Given the description of an element on the screen output the (x, y) to click on. 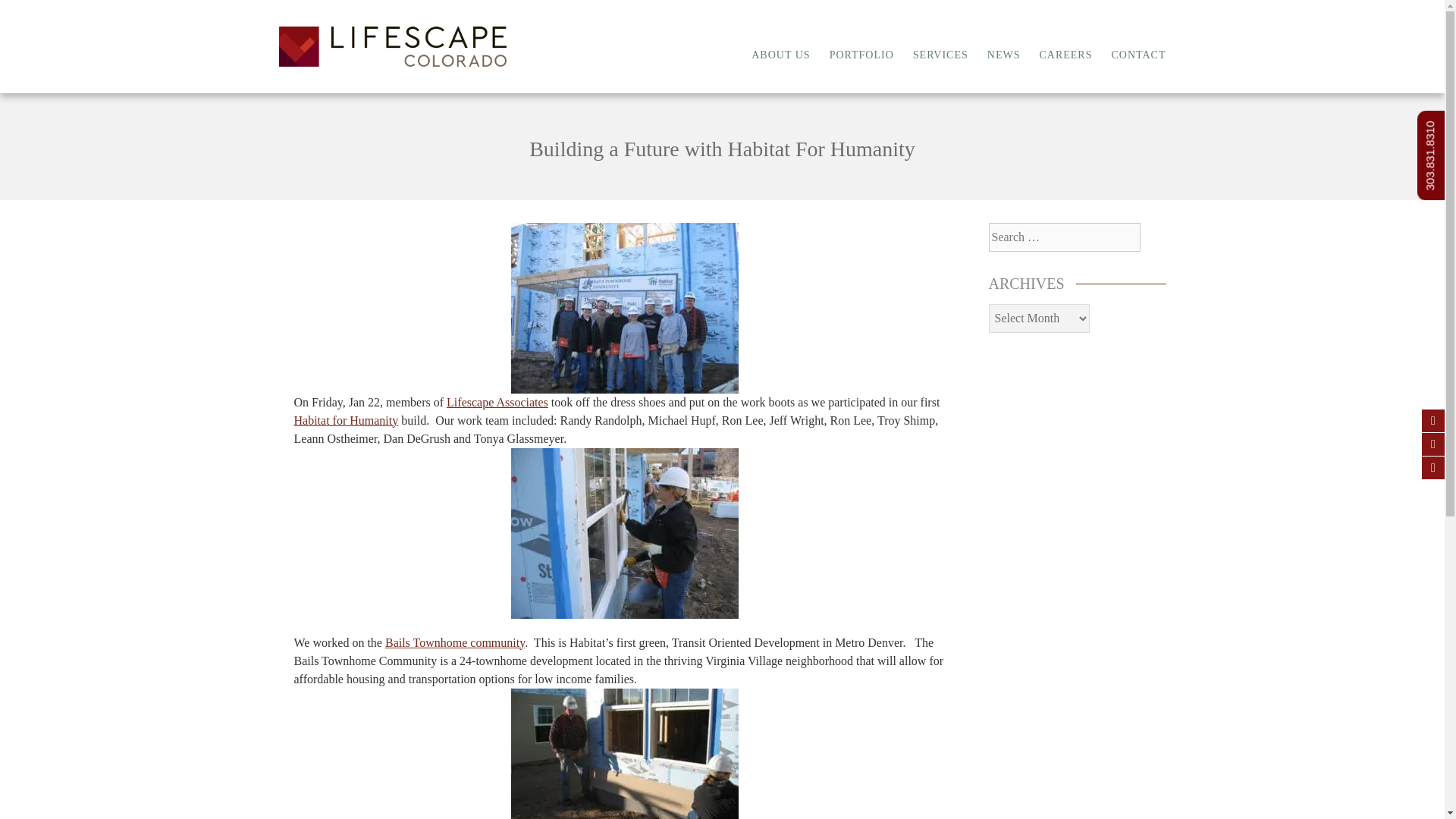
Bails Townhome community (454, 642)
Lifescape Associates (497, 401)
PORTFOLIO (861, 54)
CONTACT (1139, 54)
ABOUT US (780, 54)
Search (30, 14)
NEWS (1003, 54)
Habitat for Humanity (346, 420)
CAREERS (1065, 54)
Habitat For Humanity Build (624, 533)
SERVICES (940, 54)
